Given the description of an element on the screen output the (x, y) to click on. 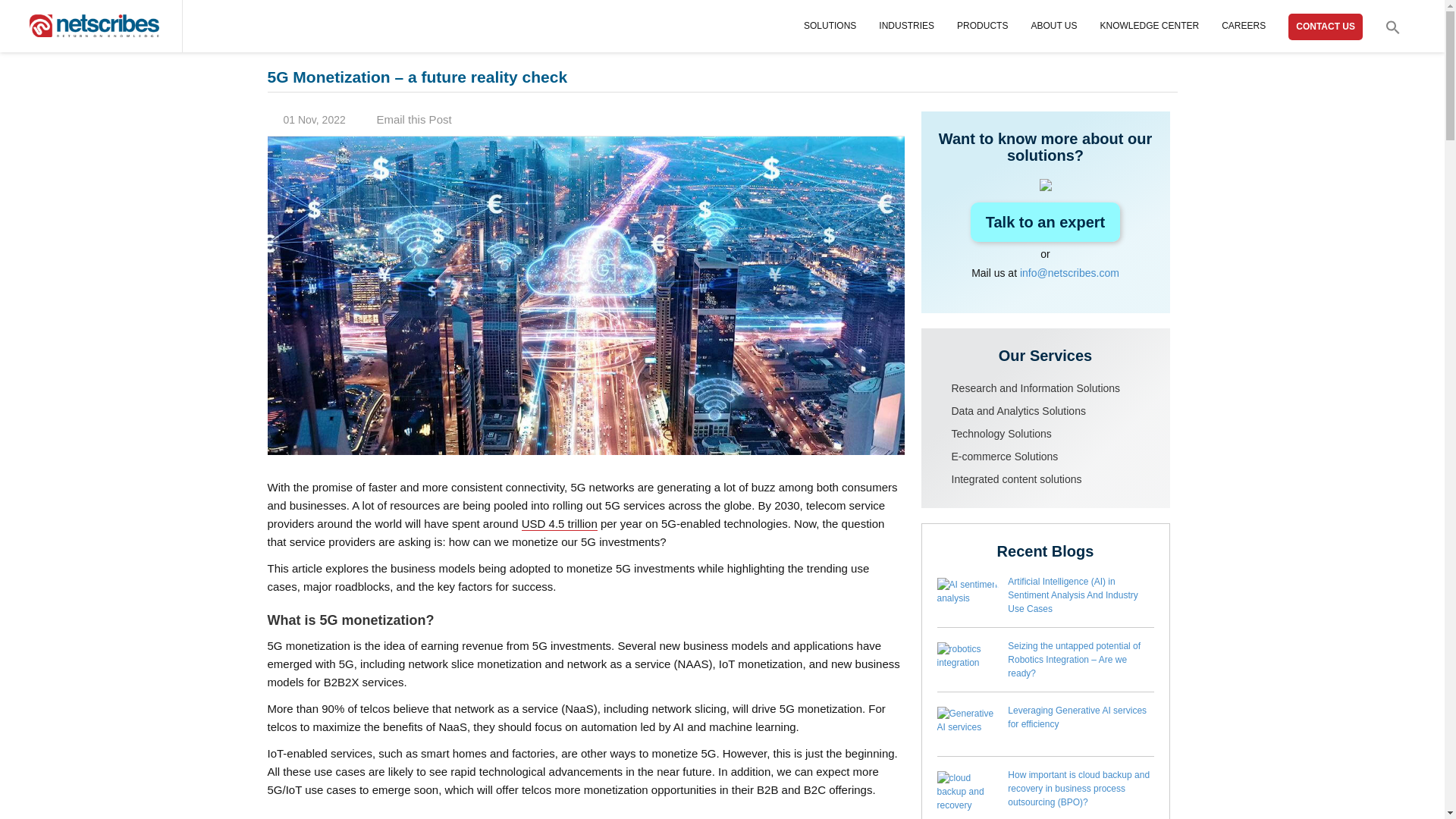
PRODUCTS (981, 26)
Leveraging Generative AI services for efficiency (970, 726)
Leveraging Generative AI services for efficiency (1077, 717)
SOLUTIONS (829, 26)
INDUSTRIES (906, 26)
